Given the description of an element on the screen output the (x, y) to click on. 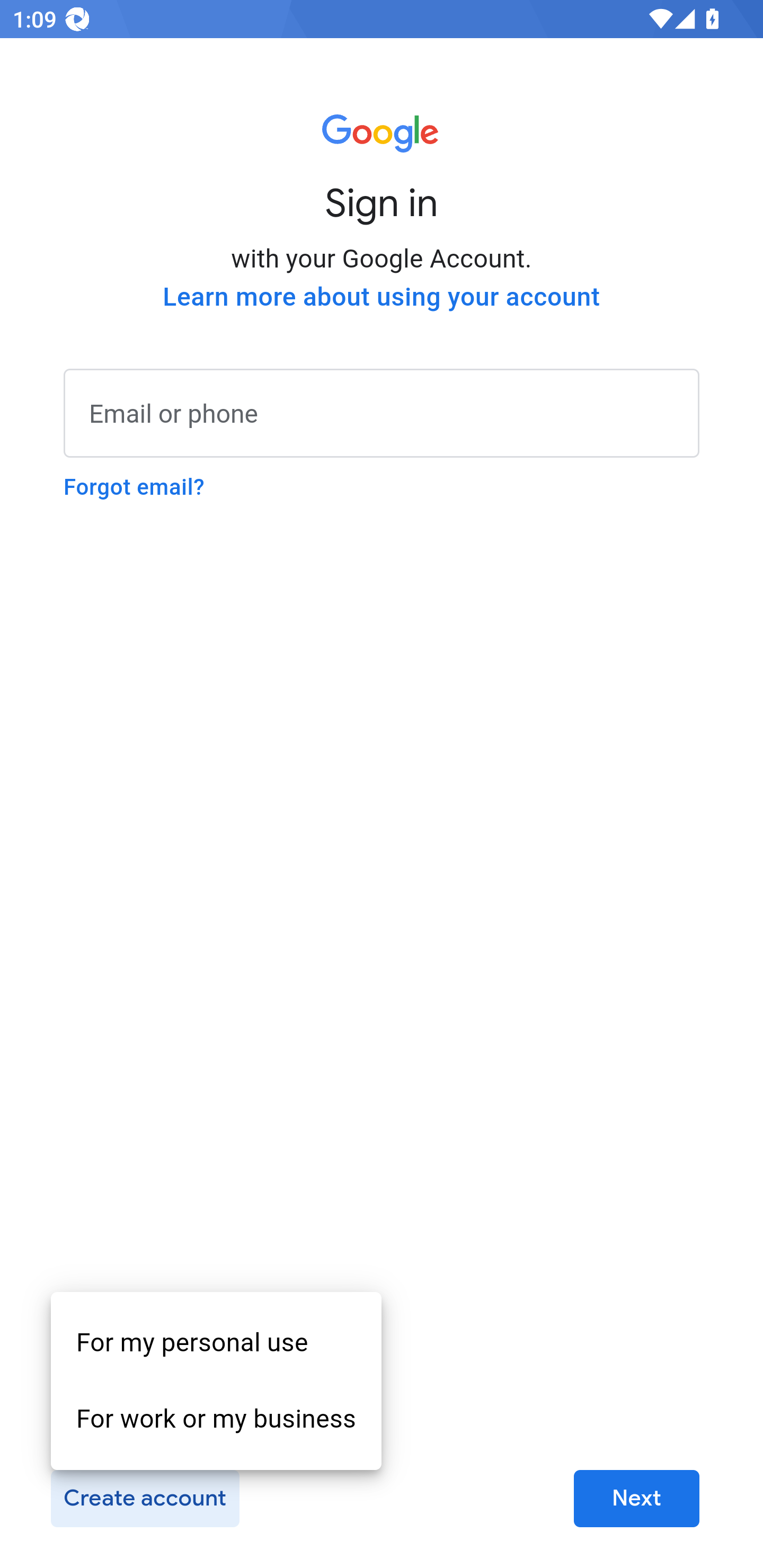
Learn more about using your account (381, 296)
Forgot email? (133, 486)
Create account (145, 1498)
Next (635, 1498)
